Given the description of an element on the screen output the (x, y) to click on. 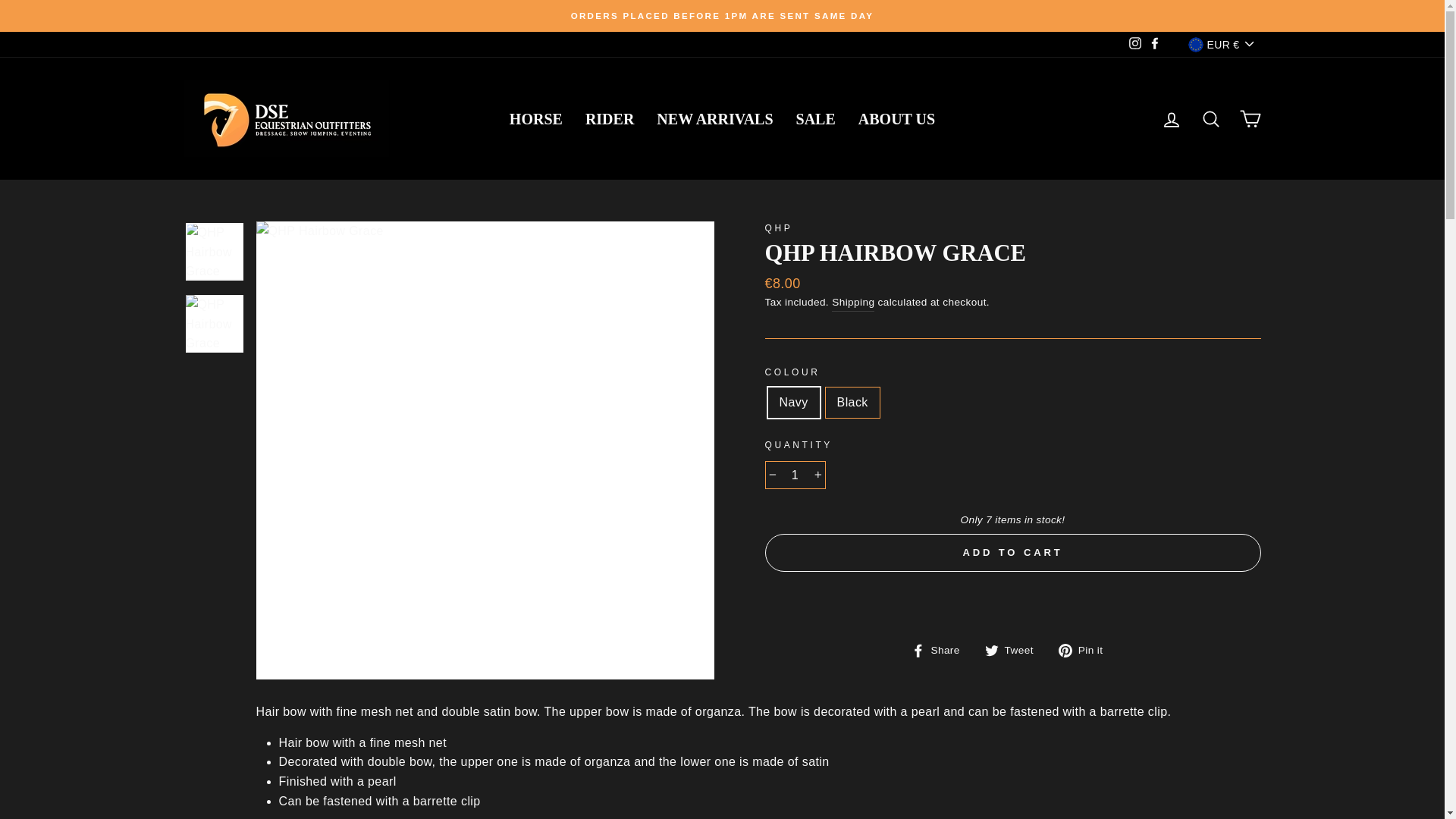
Pin on Pinterest (1085, 649)
Share on Facebook (941, 649)
Tweet on Twitter (1015, 649)
1 (794, 475)
